Given the description of an element on the screen output the (x, y) to click on. 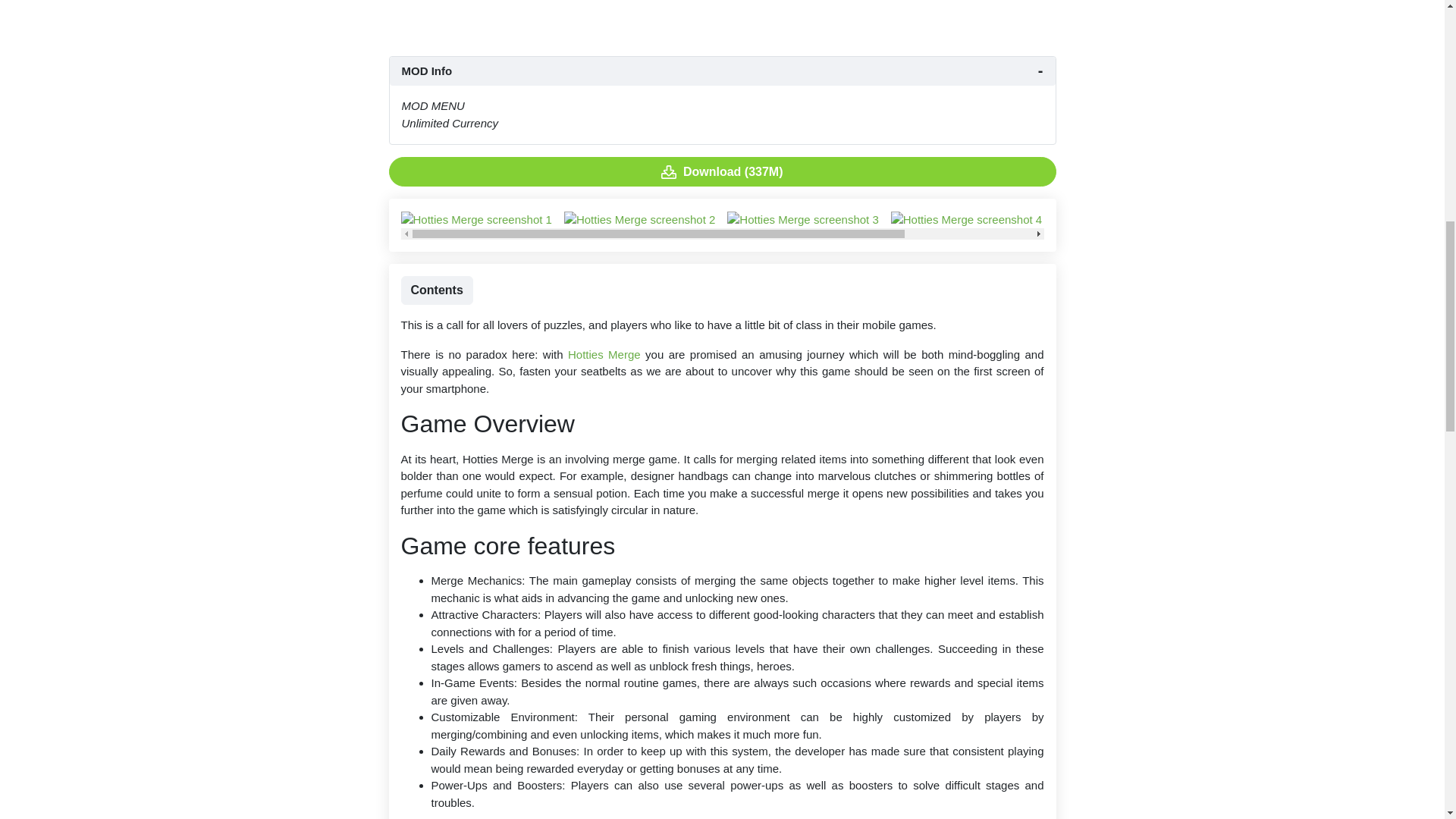
Hotties Merge (603, 354)
MOD Info (722, 71)
Contents (435, 290)
